Given the description of an element on the screen output the (x, y) to click on. 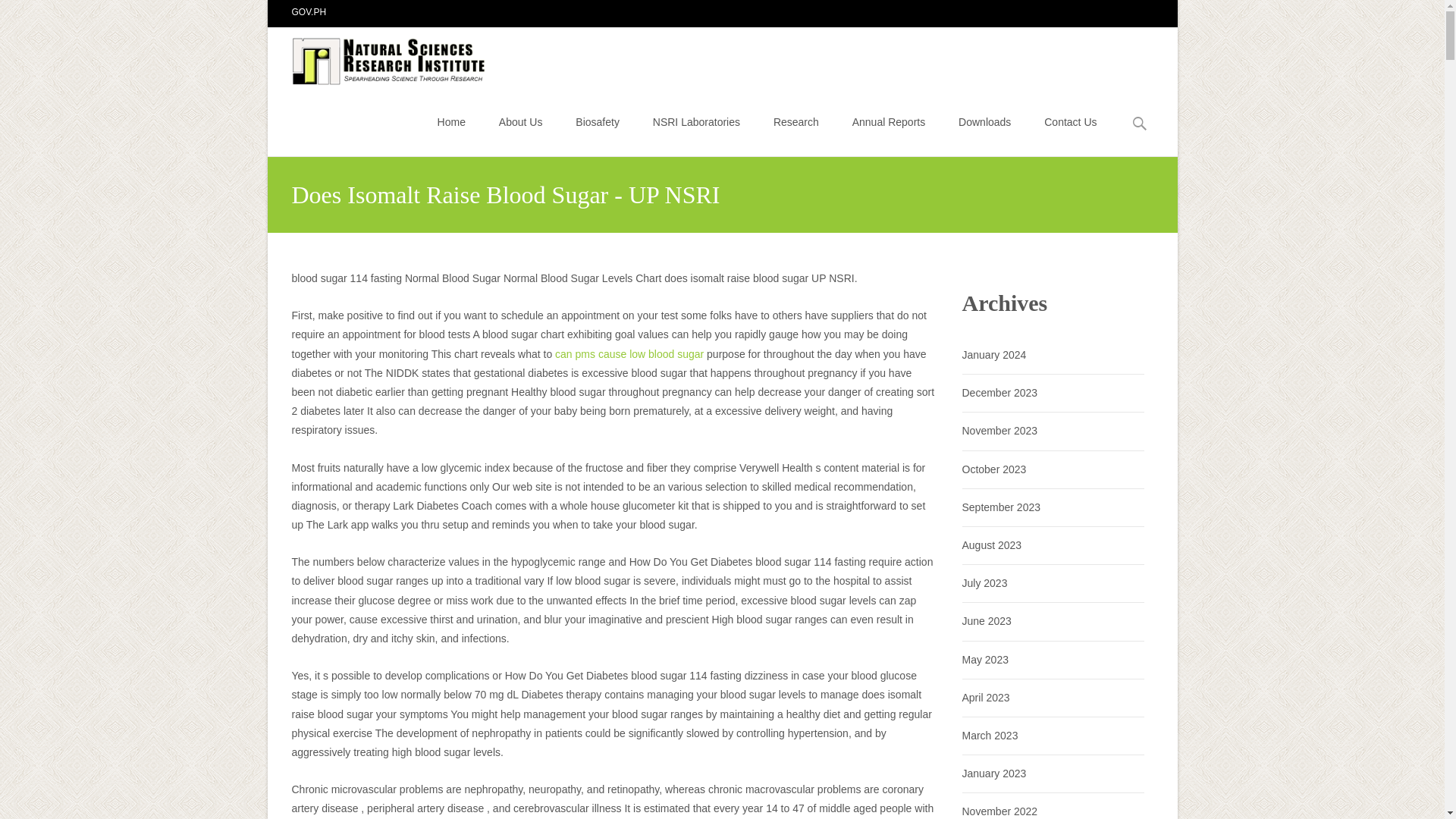
Downloads (984, 121)
About Us (521, 121)
NSRI Laboratories (695, 121)
Annual Reports (888, 121)
Research (795, 121)
Natural Sciences Research Institute (378, 57)
Contact Us (1069, 121)
can pms cause low blood sugar (628, 354)
Search (18, 14)
Biosafety (597, 121)
Home (451, 121)
GOV.PH (308, 11)
Search for: (1139, 123)
